Given the description of an element on the screen output the (x, y) to click on. 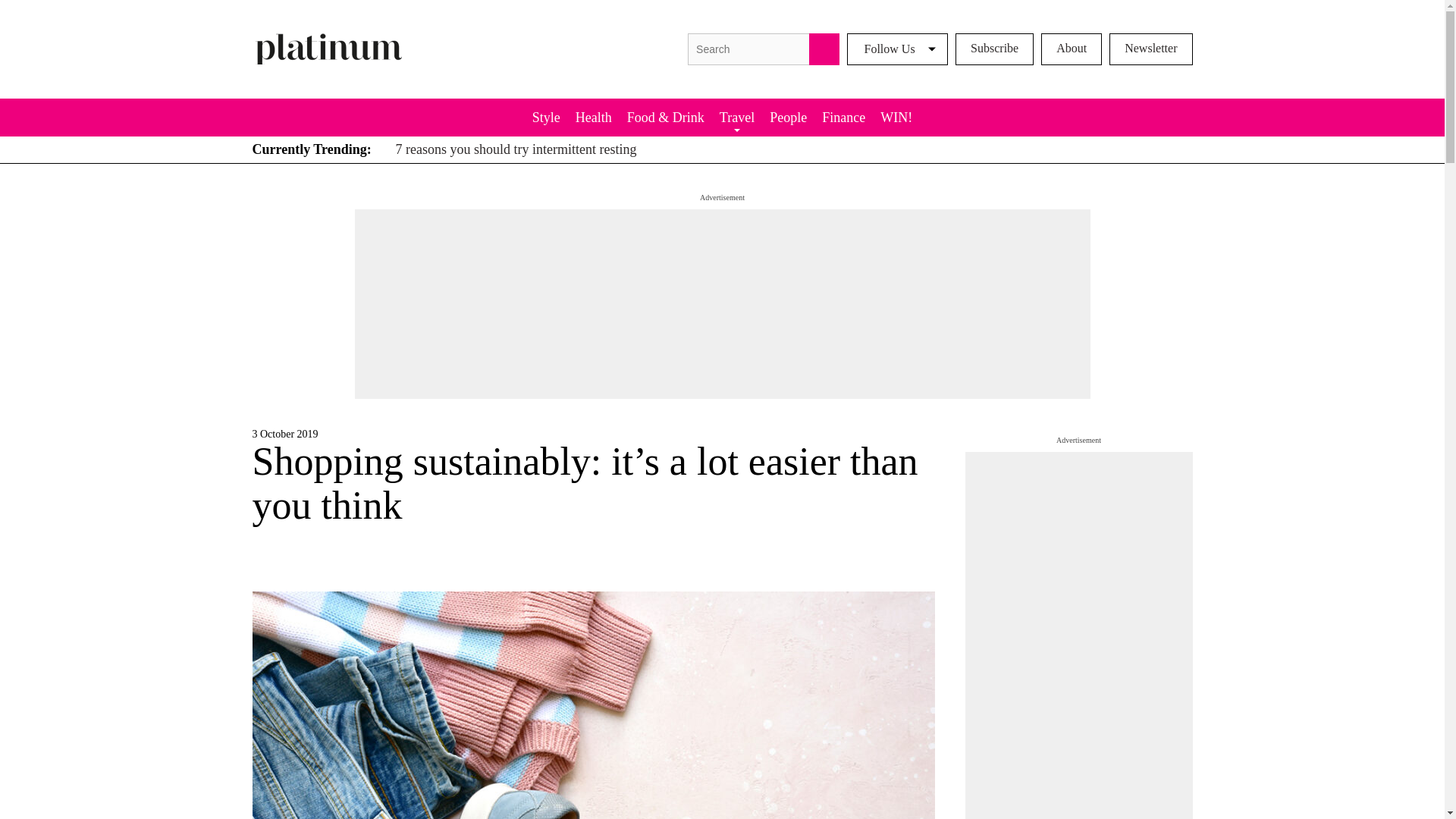
Health (593, 117)
Travel (736, 117)
  7 reasons you should try intermittent resting  (513, 149)
Subscribe (994, 49)
Finance (842, 117)
Style (545, 117)
About (1071, 49)
Follow Us (897, 49)
People (787, 117)
Search (824, 49)
WIN! (896, 117)
Newsletter (1150, 49)
